Given the description of an element on the screen output the (x, y) to click on. 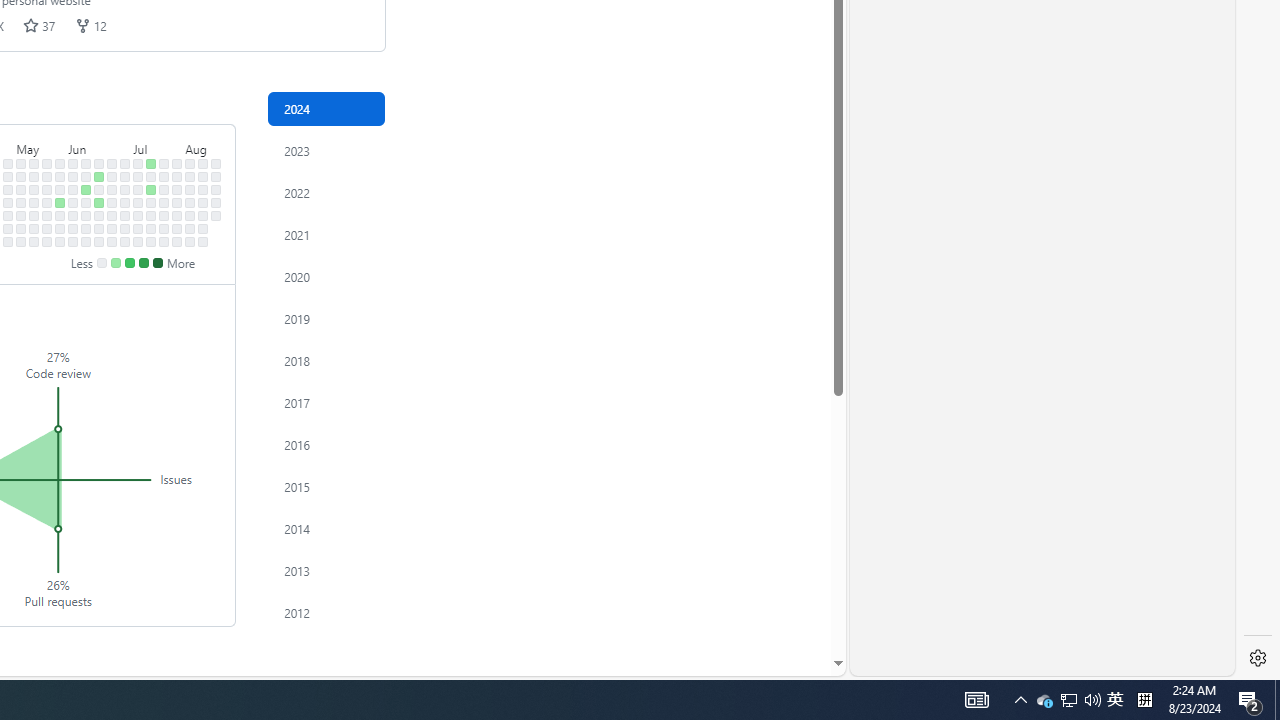
No contributions on June 14th. (86, 228)
No contributions on May 21st. (47, 189)
May (40, 145)
No contributions on August 20th. (216, 189)
No contributions on June 13th. (86, 215)
No contributions on July 12th. (138, 228)
No contributions on August 22nd. (216, 215)
2020 (326, 276)
No contributions on July 2nd. (125, 189)
Contribution activity in 2013 (326, 570)
No contributions on July 31st. (177, 202)
1 contribution on July 16th. (151, 189)
No contributions on July 29th. (177, 176)
No contributions on August 16th. (203, 228)
stars 37 (39, 25)
